Given the description of an element on the screen output the (x, y) to click on. 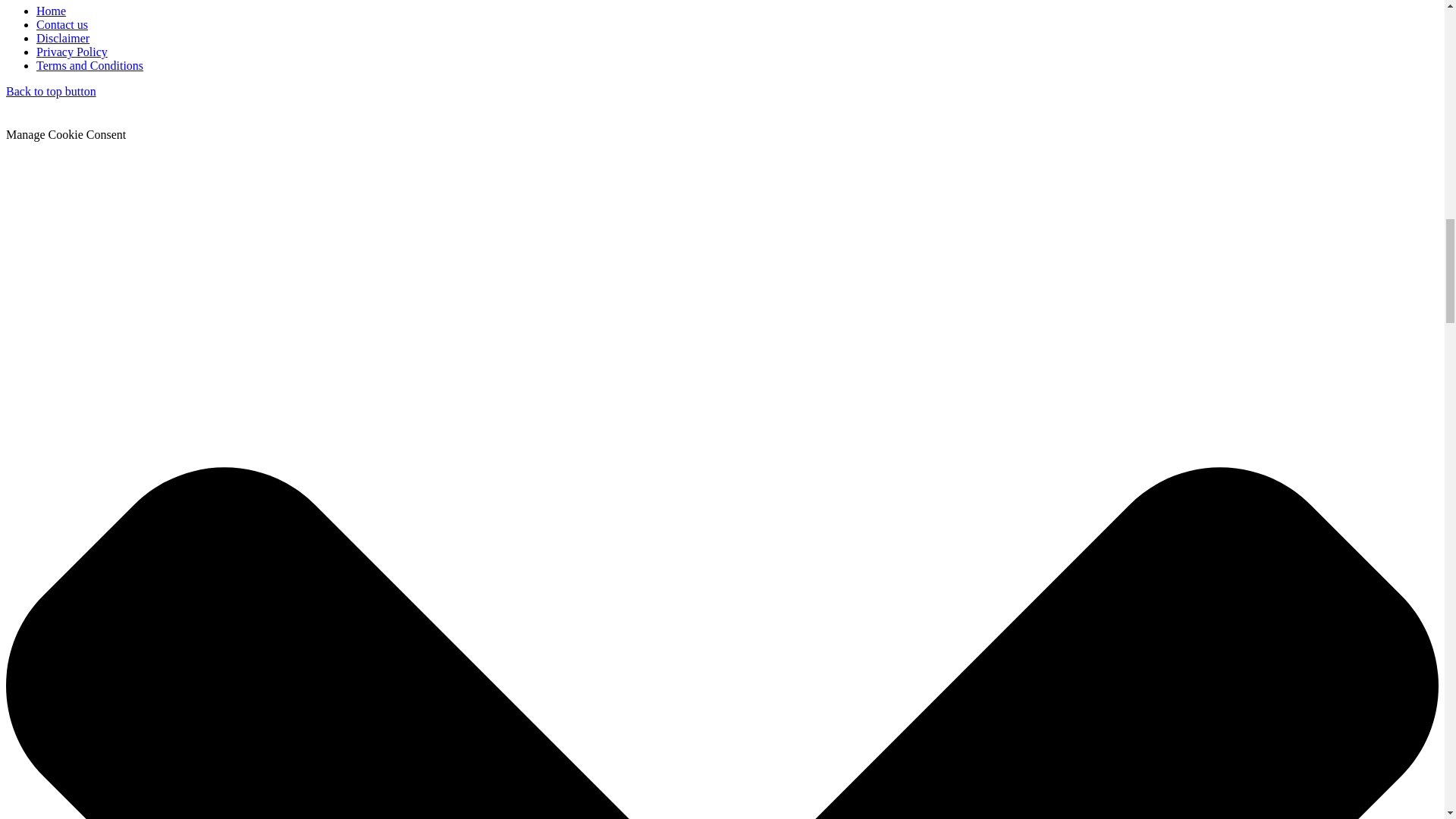
Disclaimer (62, 38)
Home (50, 10)
Search (222, 119)
Back to top button (50, 91)
Privacy Policy (71, 51)
Contact us (61, 24)
Terms and Conditions (89, 65)
